Given the description of an element on the screen output the (x, y) to click on. 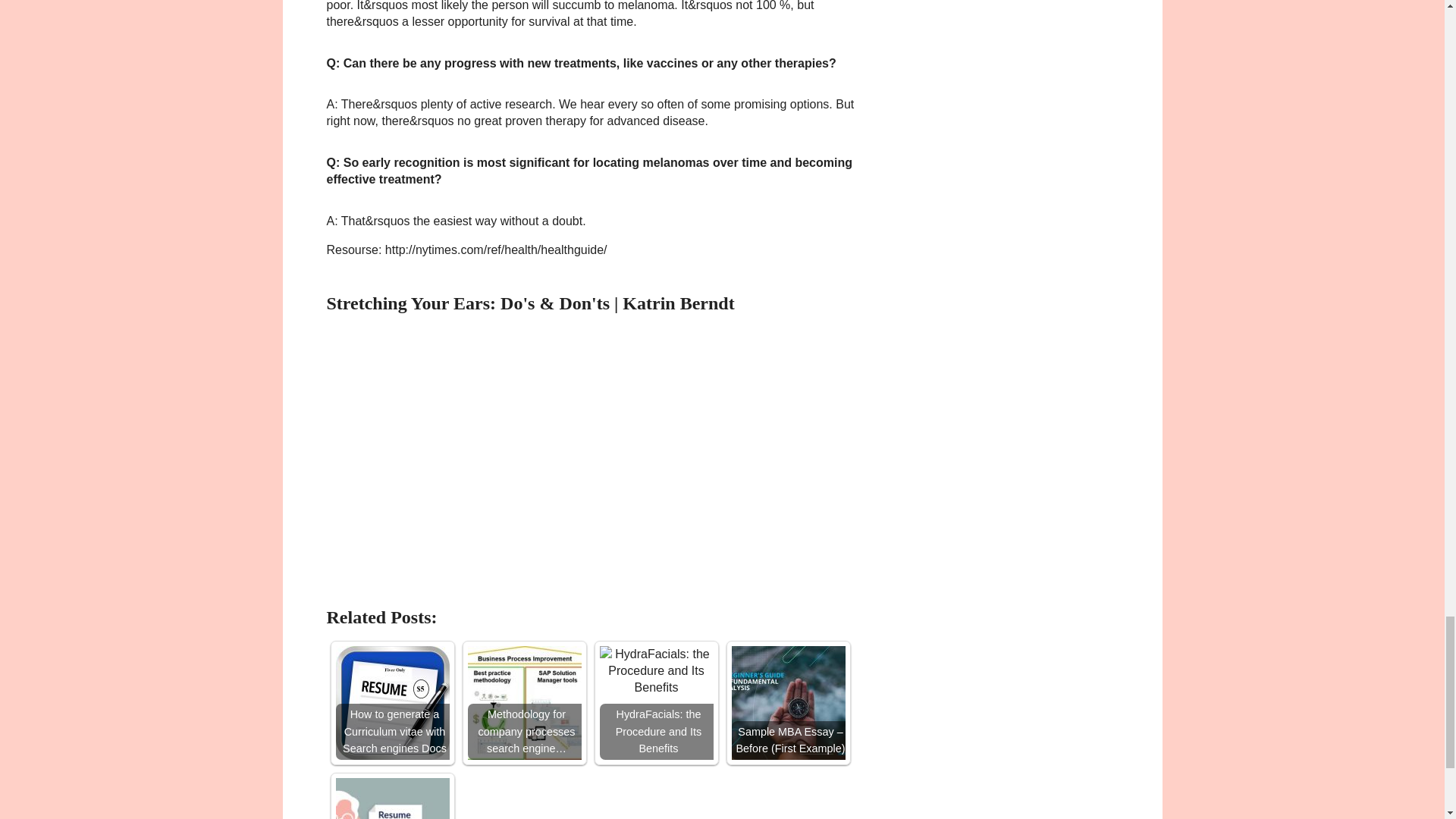
The way to Pick a Career (391, 798)
HydraFacials: the Procedure and Its Benefits (655, 703)
How to generate a Curriculum vitae with Search engines Docs (391, 703)
The way to Pick a Career (391, 798)
HydraFacials: the Procedure and Its Benefits (655, 671)
How to generate a Curriculum vitae with Search engines Docs (391, 703)
